Given the description of an element on the screen output the (x, y) to click on. 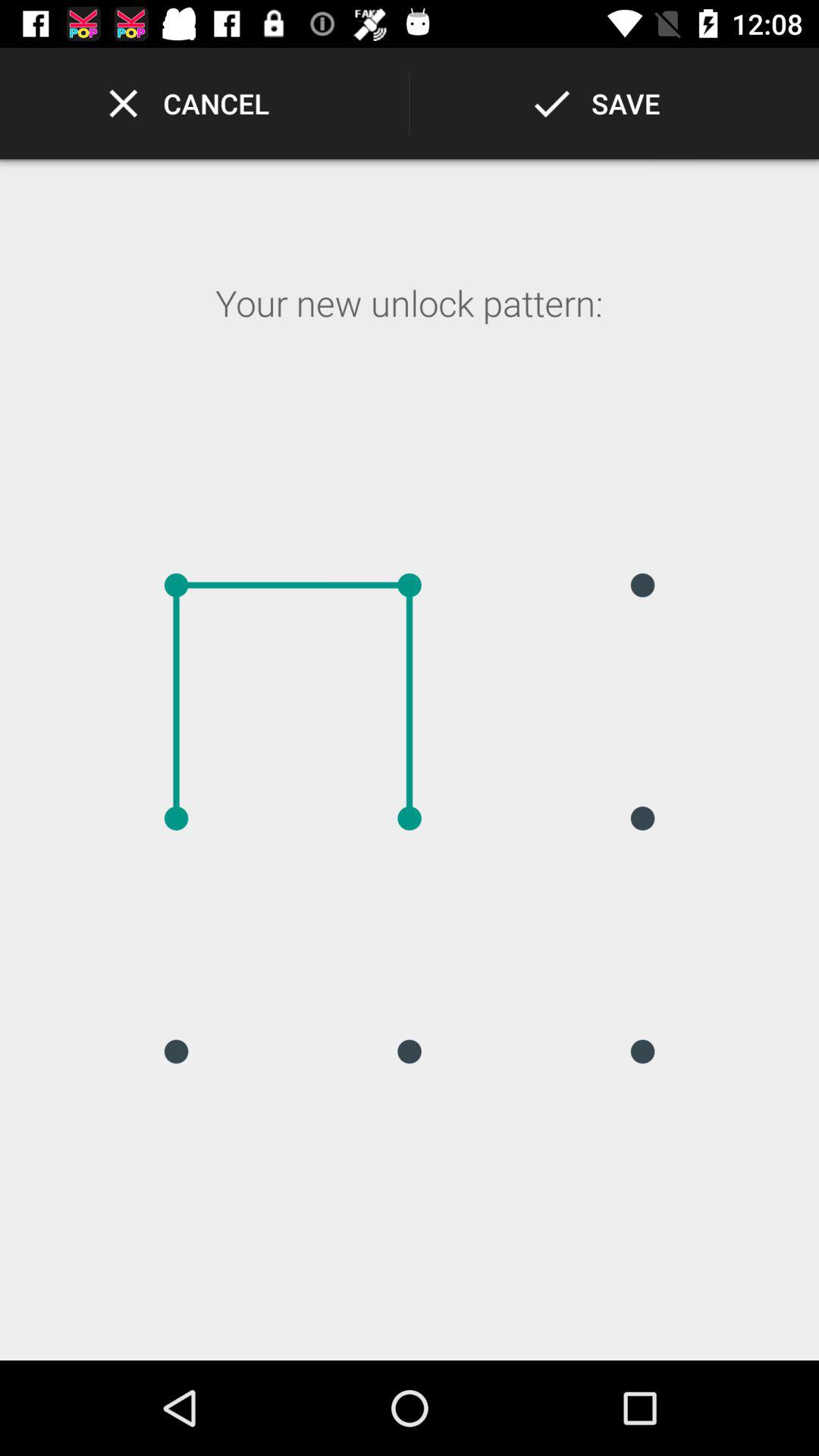
click icon below the cancel icon (408, 323)
